Given the description of an element on the screen output the (x, y) to click on. 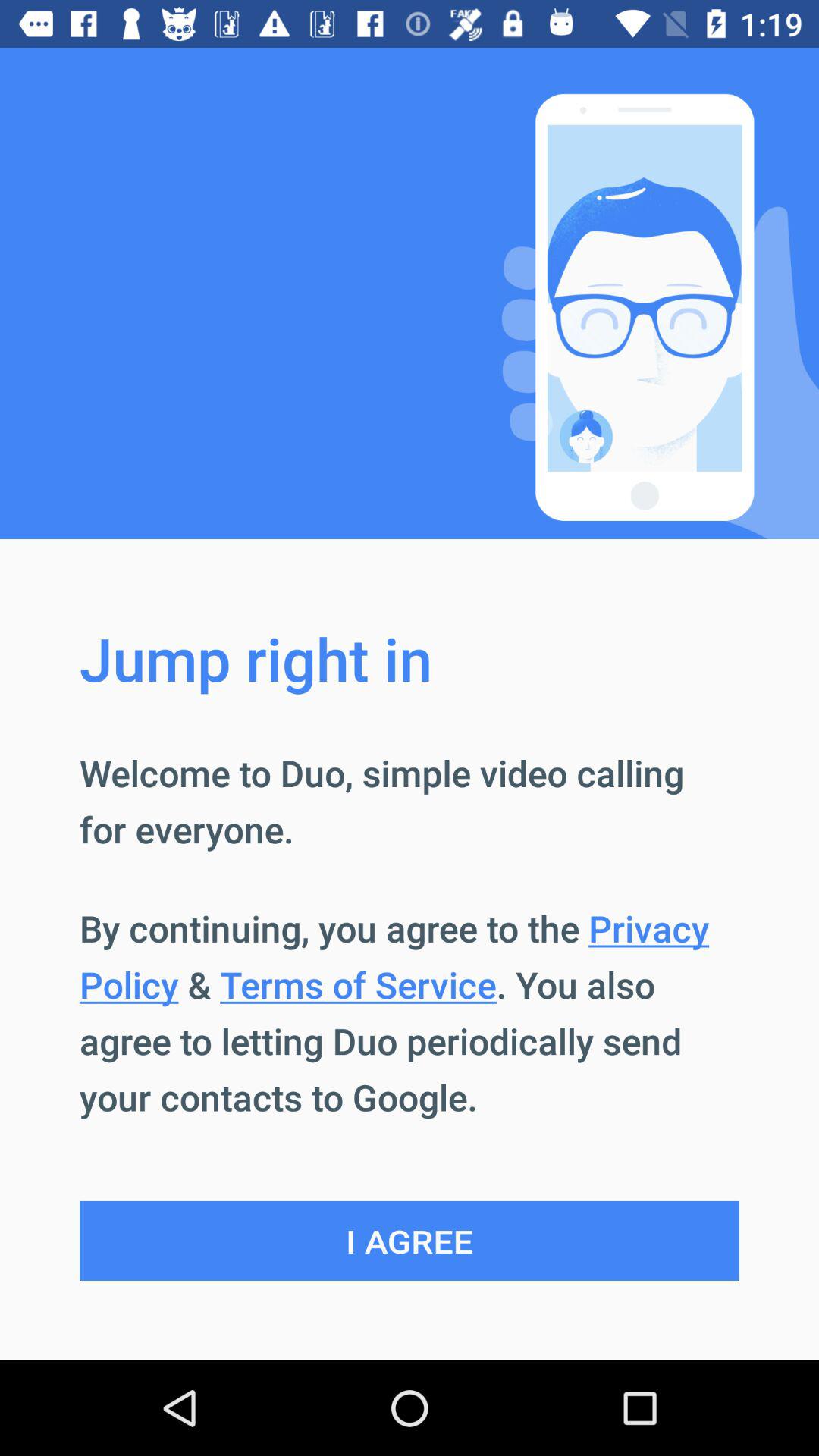
jump to the by continuing you icon (409, 1012)
